Given the description of an element on the screen output the (x, y) to click on. 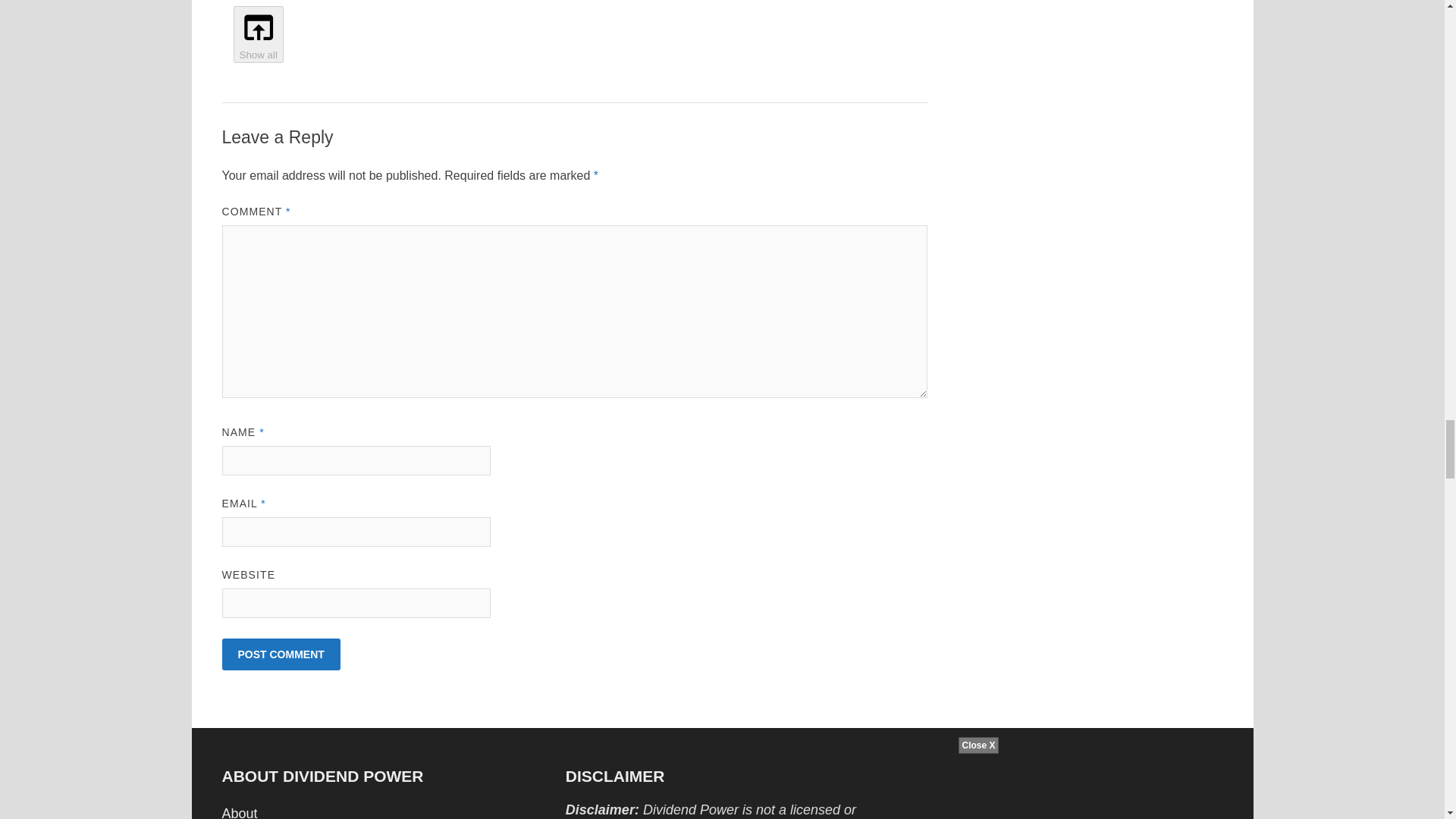
Post Comment (280, 654)
